Given the description of an element on the screen output the (x, y) to click on. 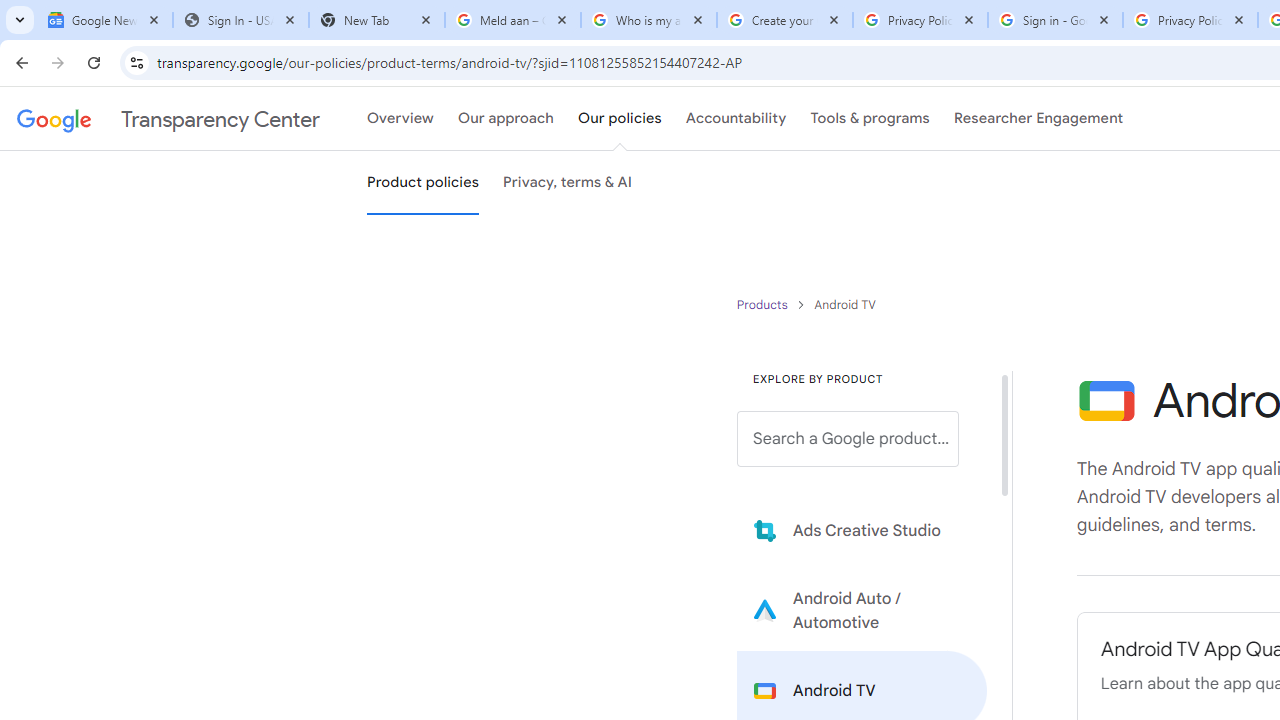
Learn more about Android Auto (862, 610)
Our policies (619, 119)
Product policies (763, 304)
Create your Google Account (784, 20)
Learn more about Android Auto (862, 610)
Transparency Center (167, 119)
Google News (104, 20)
Sign in - Google Accounts (1055, 20)
Learn more about Ads Creative Studio (862, 530)
New Tab (376, 20)
Learn more about Ads Creative Studio (862, 530)
